Given the description of an element on the screen output the (x, y) to click on. 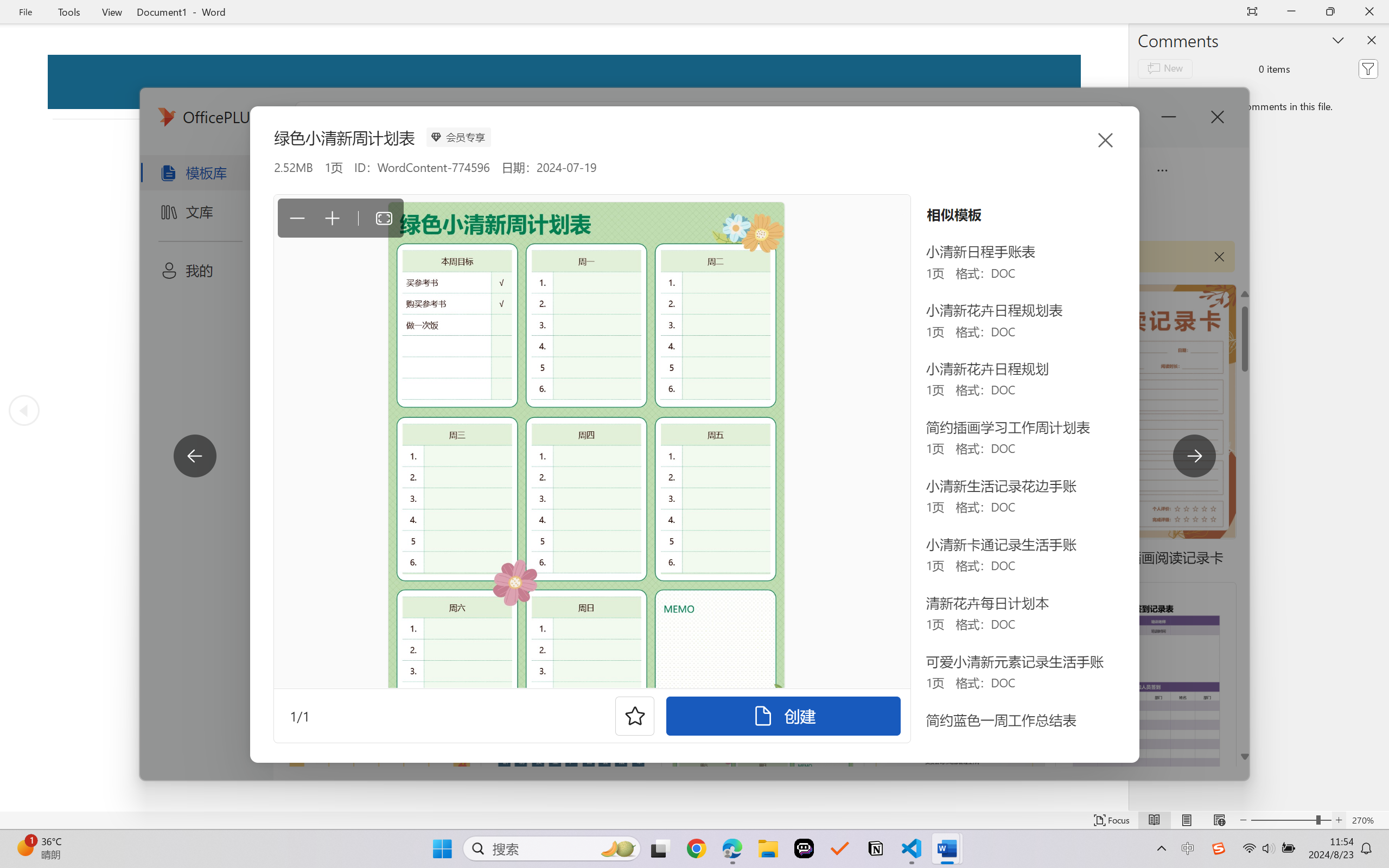
Auto-hide Reading Toolbar (1252, 11)
Increase Text Size (1338, 819)
New comment (1165, 68)
